Given the description of an element on the screen output the (x, y) to click on. 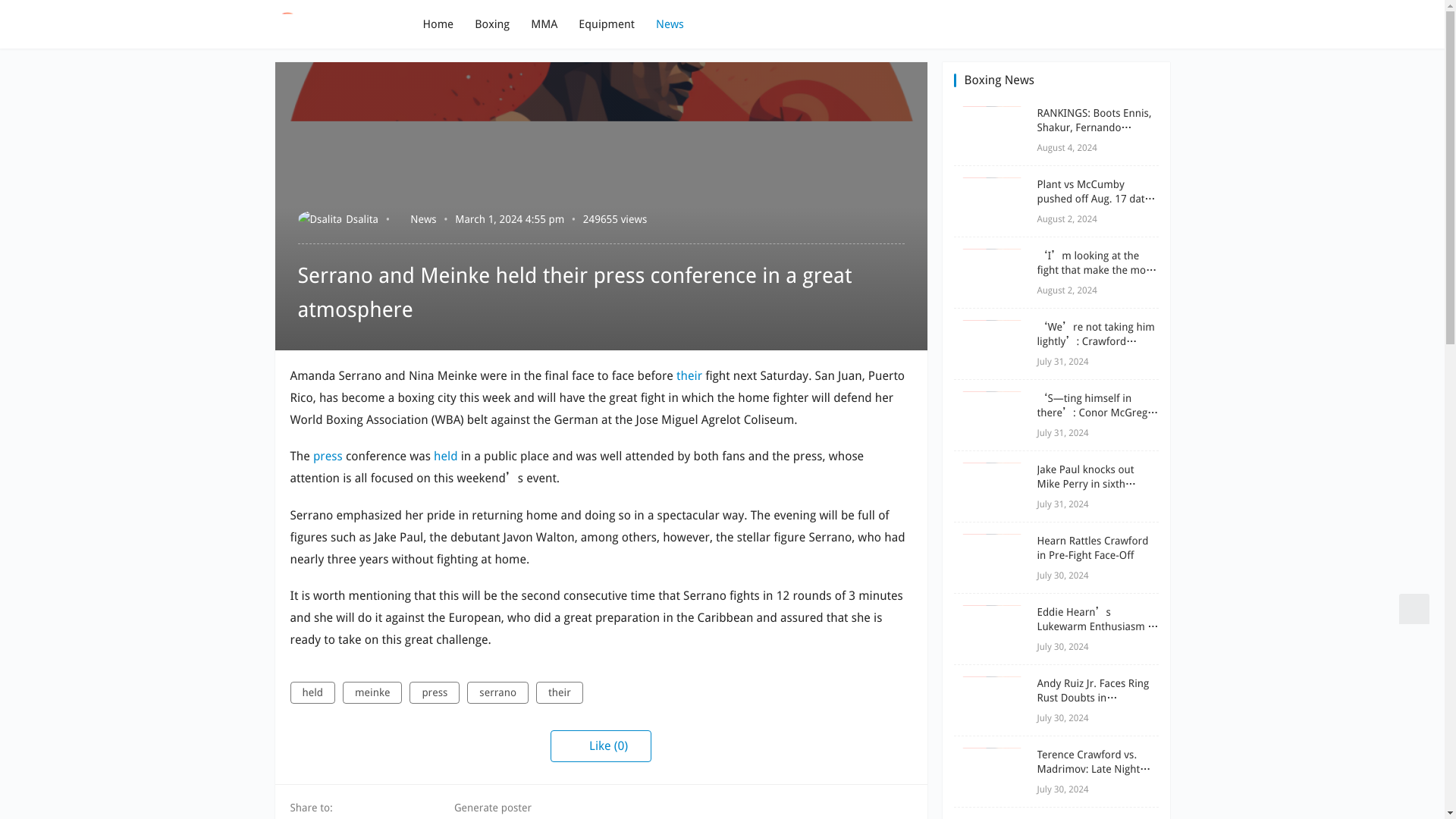
serrano (497, 692)
Generate poster (483, 807)
held (445, 455)
Equipment (606, 24)
meinke (371, 692)
their (559, 692)
their (689, 375)
press (327, 455)
held (445, 455)
press (434, 692)
their (689, 375)
Dsalita (337, 218)
held (311, 692)
News (422, 218)
press (327, 455)
